Given the description of an element on the screen output the (x, y) to click on. 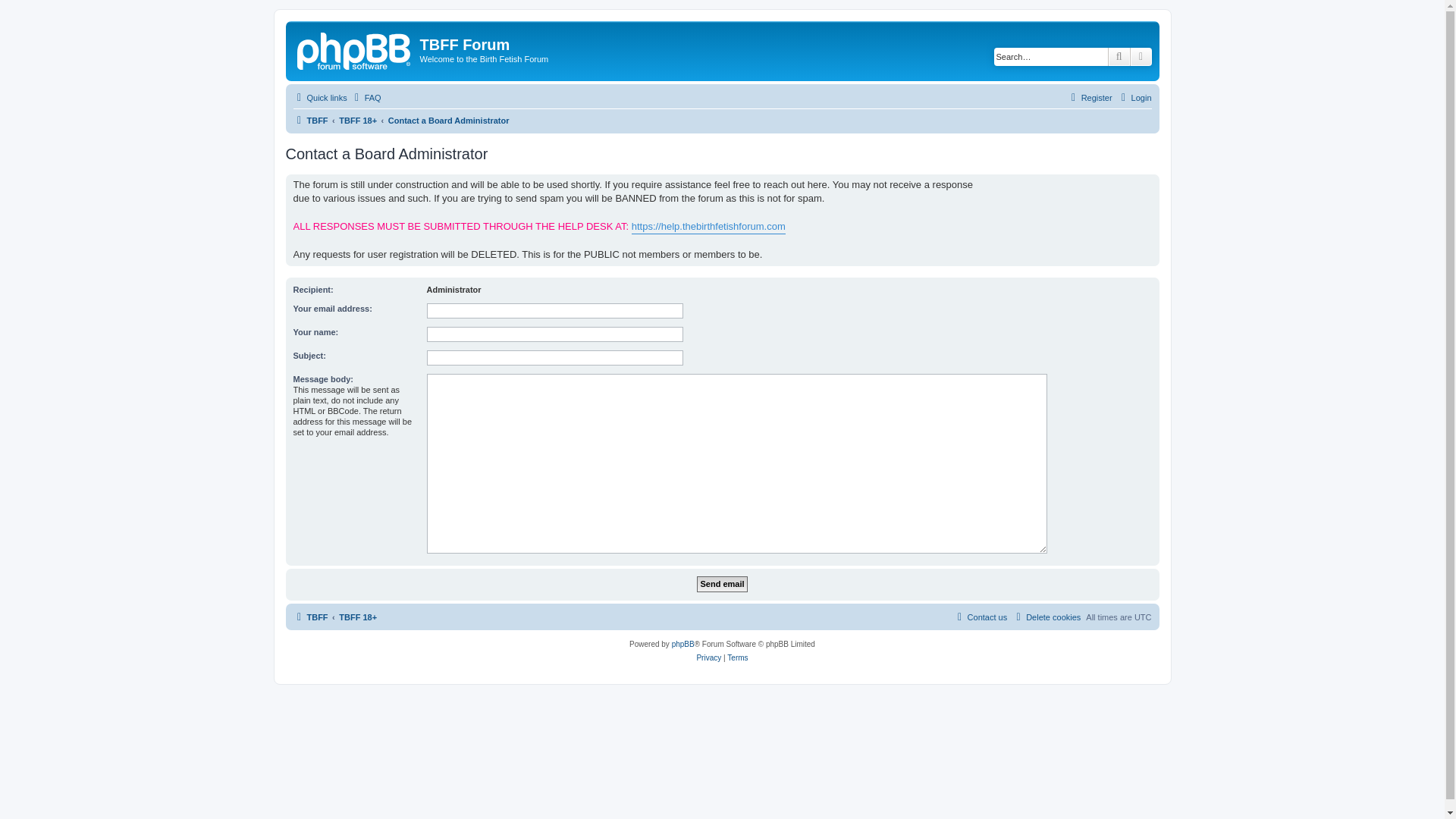
Contact us (980, 617)
Send email (721, 584)
Send email (721, 584)
Frequently Asked Questions (365, 97)
TBFF (354, 49)
FAQ (365, 97)
Search (1119, 56)
Contact a Board Administrator (448, 120)
TBFF (309, 120)
Contact a Board Administrator (448, 120)
